Given the description of an element on the screen output the (x, y) to click on. 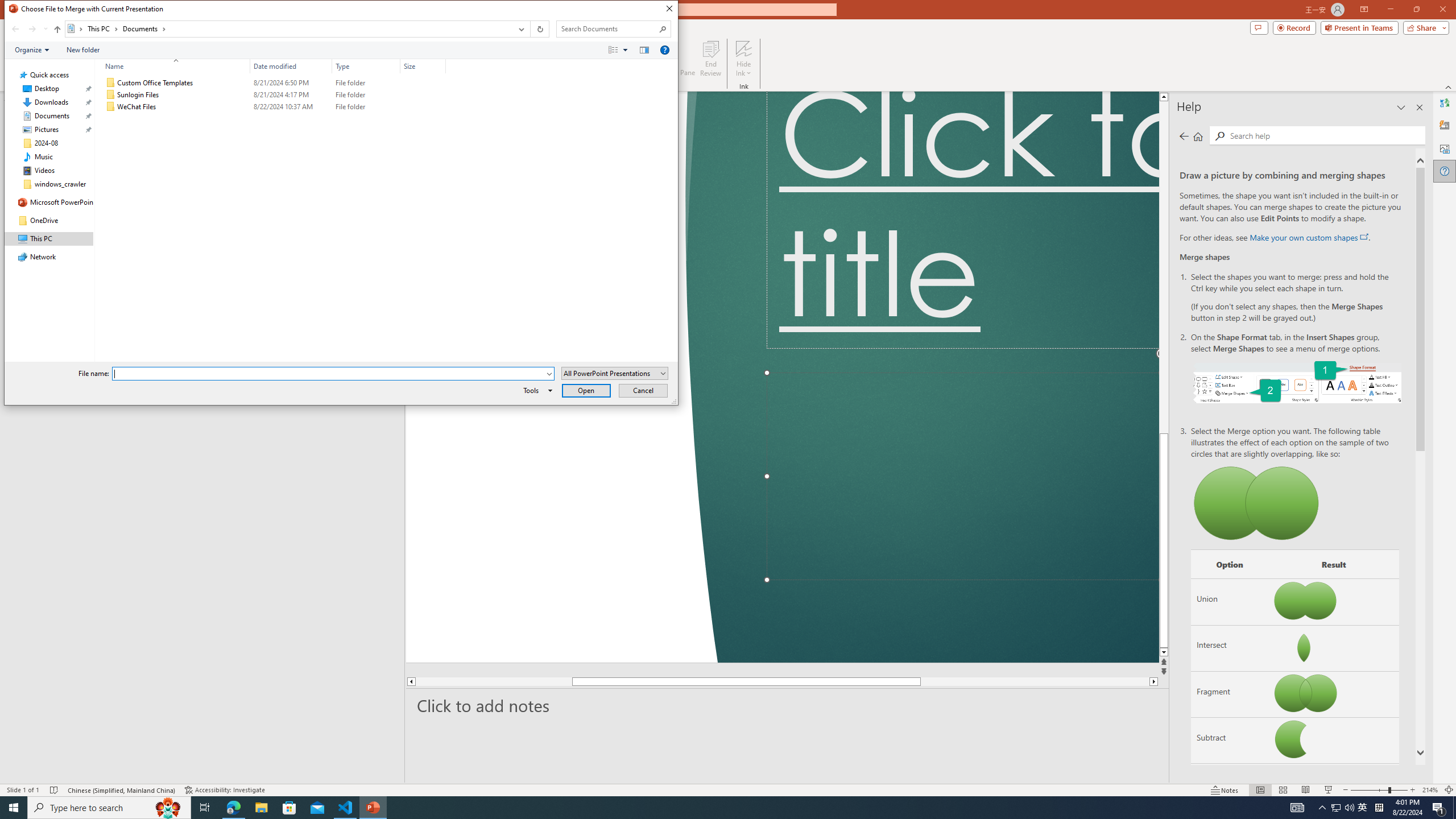
This PC (102, 28)
Page up (1245, 266)
Running applications (707, 807)
Type (365, 65)
Title TextBox (962, 219)
New folder (82, 49)
